Given the description of an element on the screen output the (x, y) to click on. 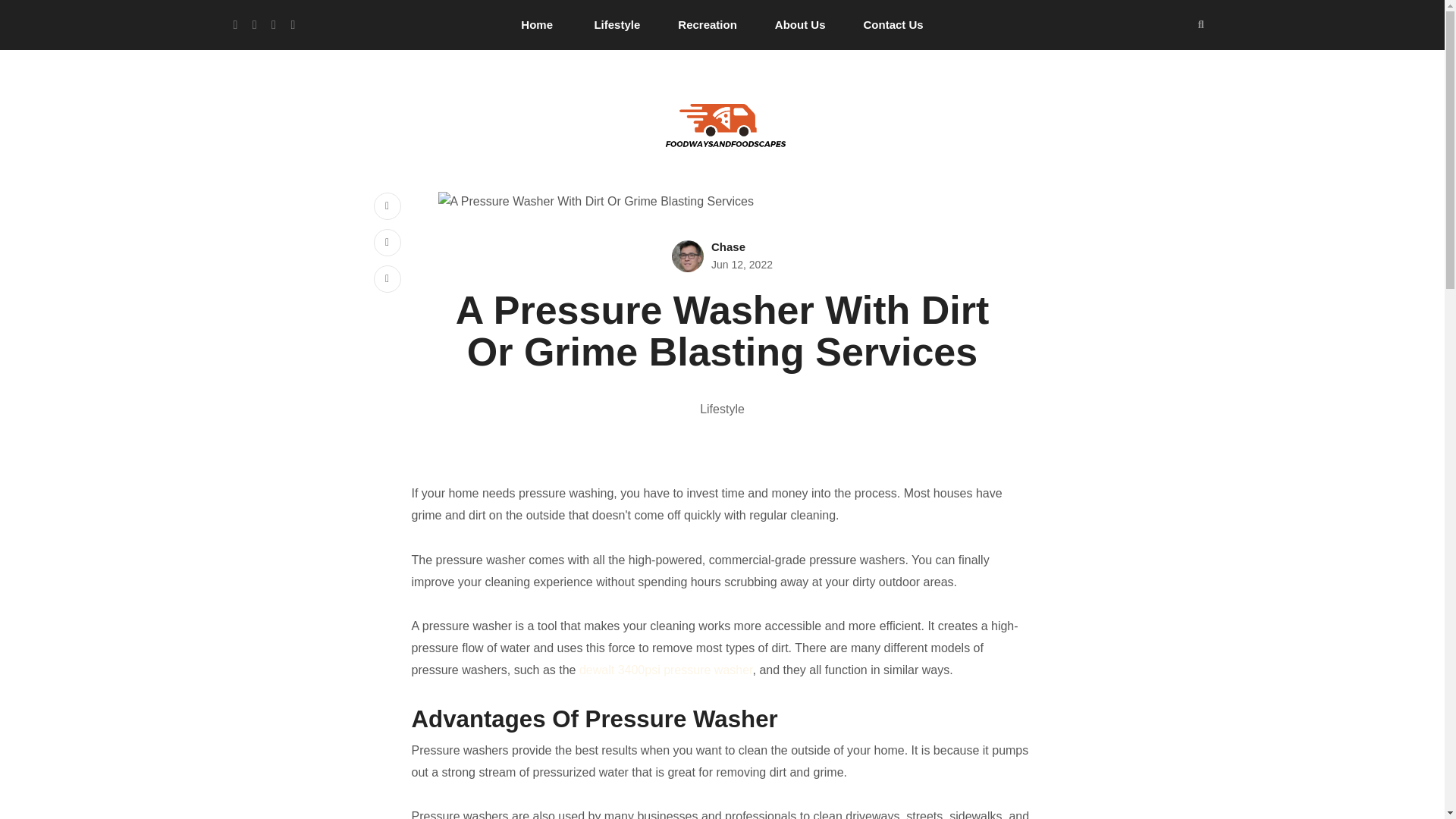
Chase (728, 246)
Contact Us (893, 24)
Home (537, 24)
Lifestyle (722, 408)
Lifestyle (617, 24)
Home (537, 24)
dewalt 3400psi pressure washer (665, 669)
About Us (799, 24)
Recreation (707, 24)
